Given the description of an element on the screen output the (x, y) to click on. 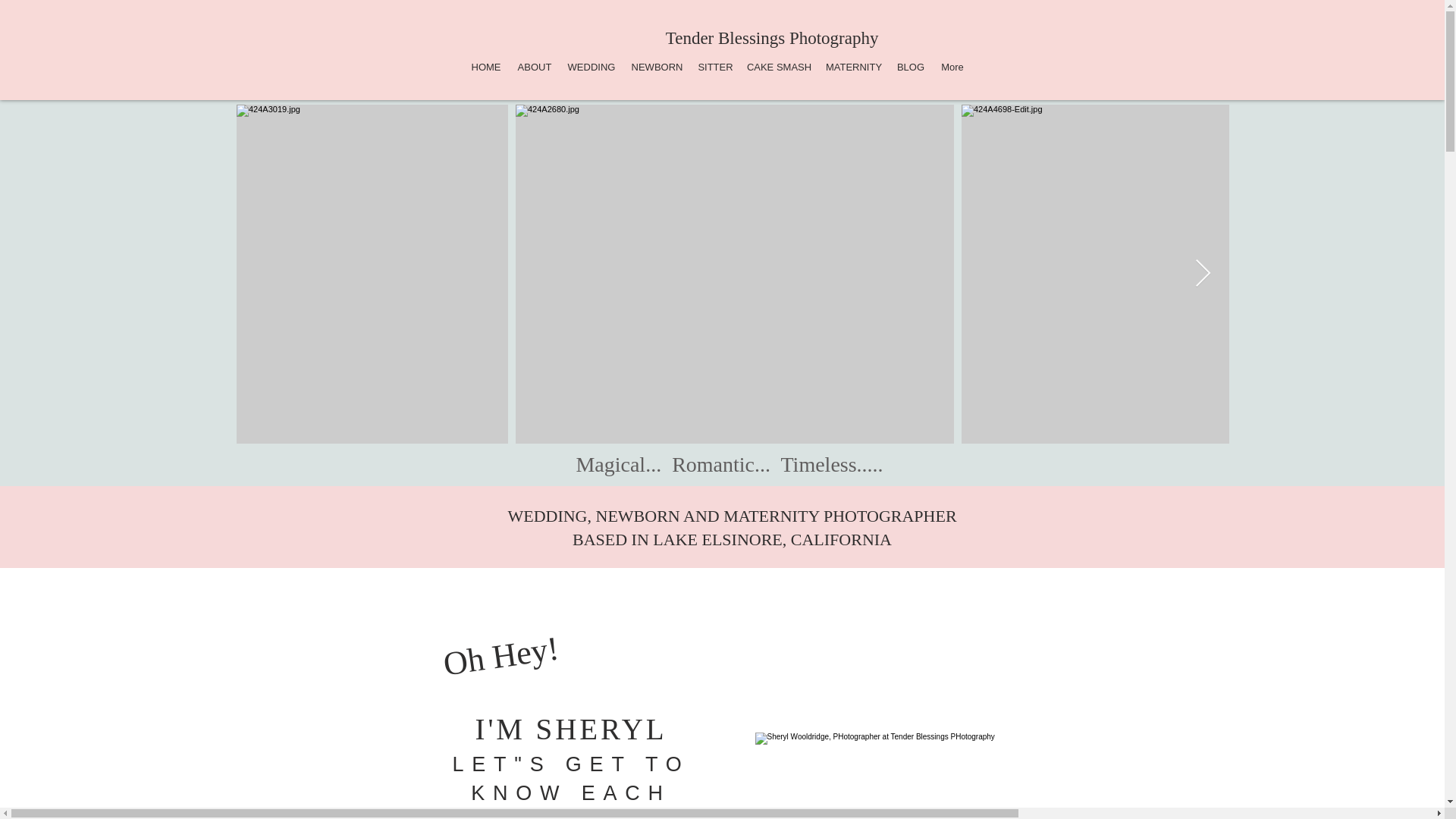
MATERNITY (853, 67)
SITTER (714, 67)
CAKE SMASH (777, 67)
WEDDING (592, 67)
ABOUT (534, 67)
NEWBORN (656, 67)
BLOG (910, 67)
HOME (486, 67)
